Given the description of an element on the screen output the (x, y) to click on. 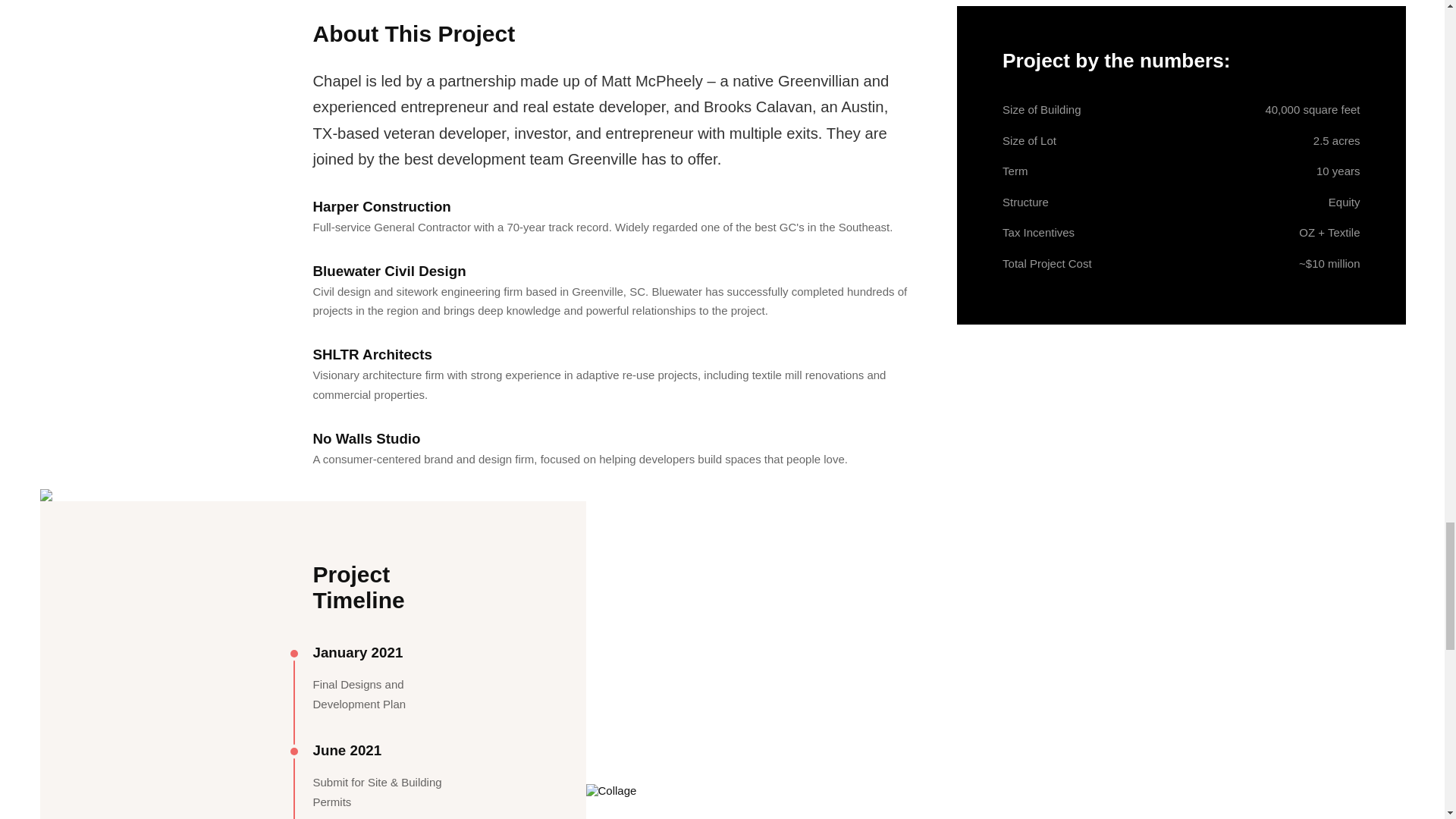
Connect with CHPL (385, 531)
